Given the description of an element on the screen output the (x, y) to click on. 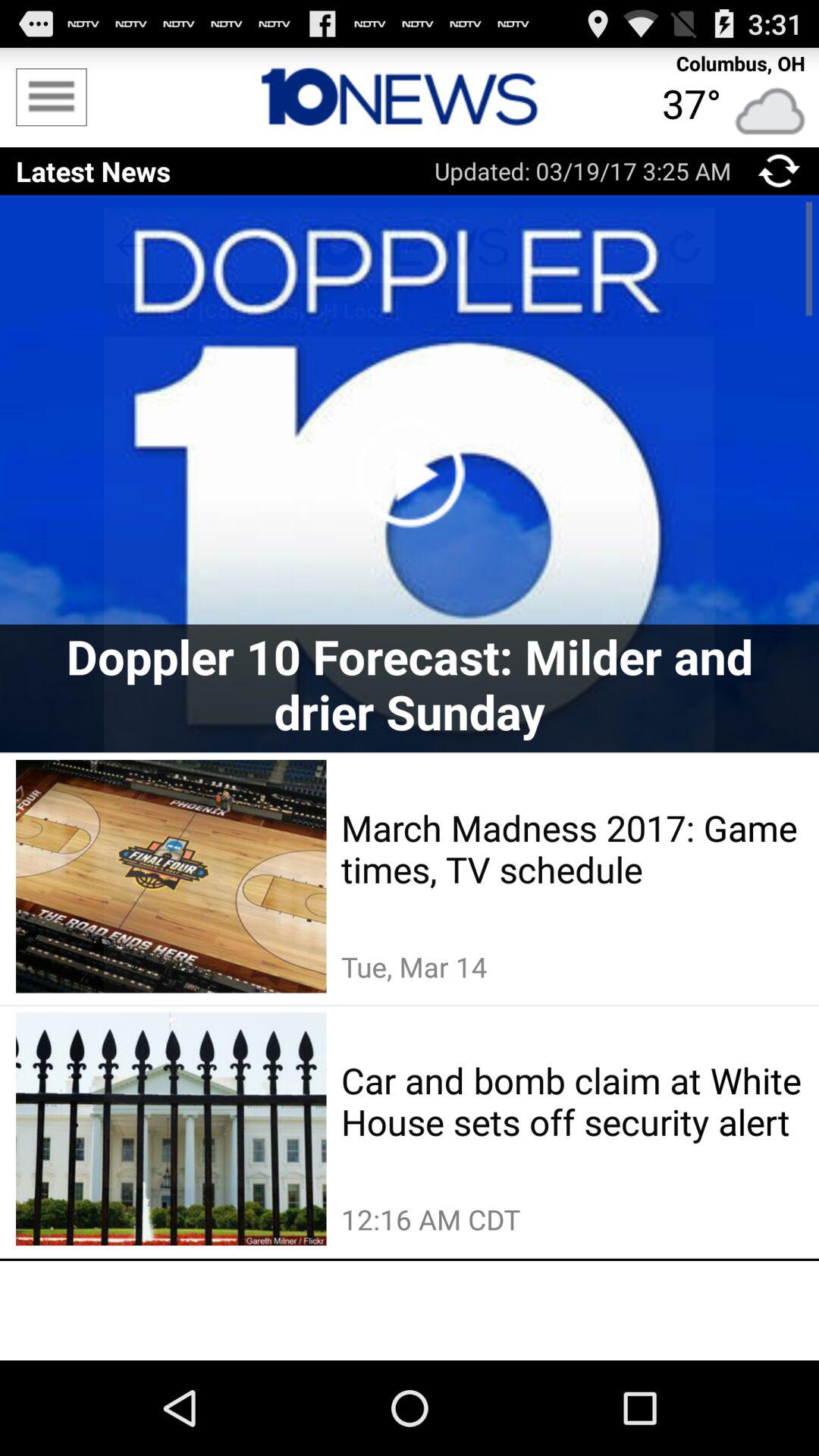
go to home page (409, 97)
